Given the description of an element on the screen output the (x, y) to click on. 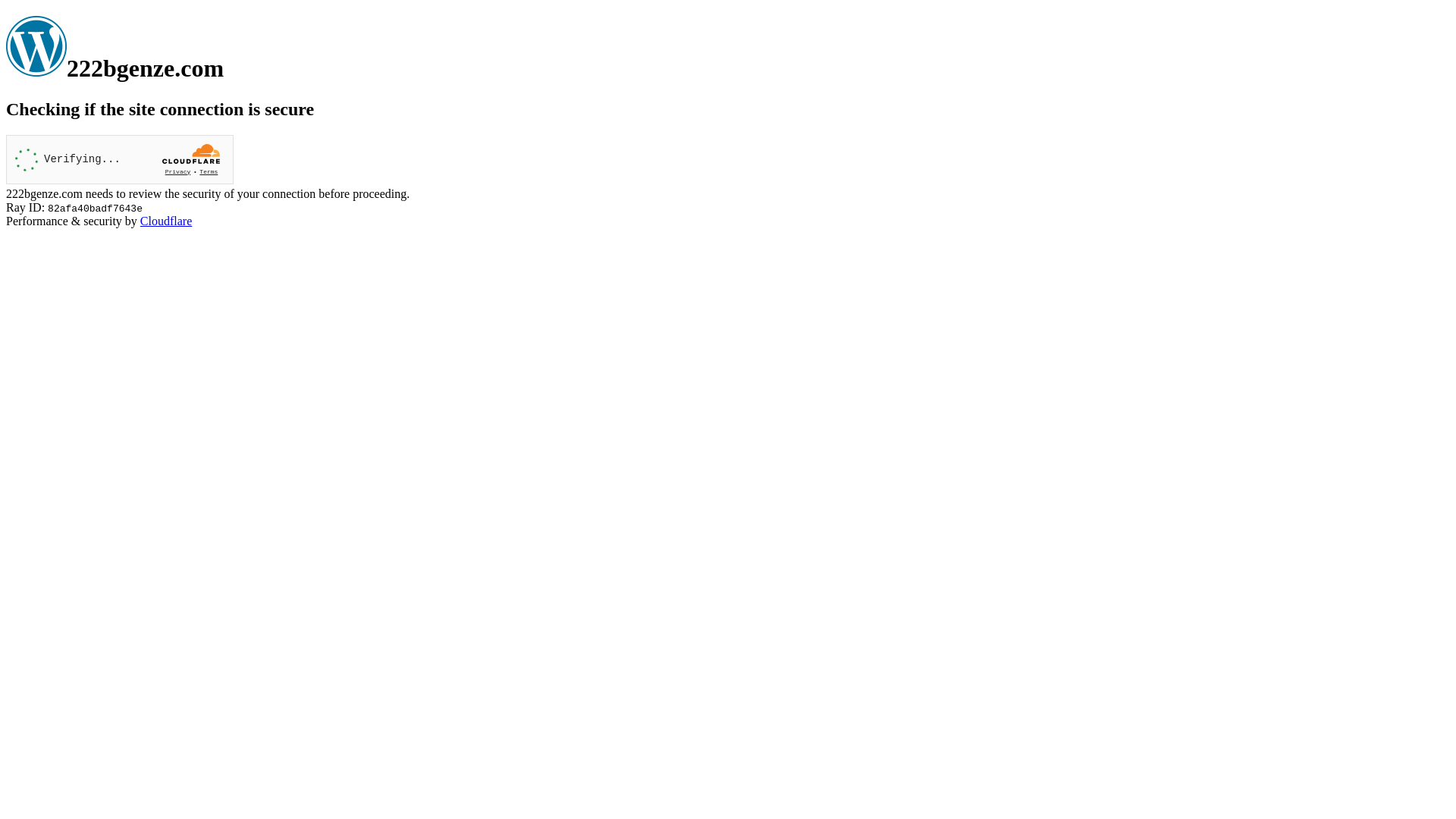
Widget containing a Cloudflare security challenge Element type: hover (119, 159)
Cloudflare Element type: text (165, 220)
